Given the description of an element on the screen output the (x, y) to click on. 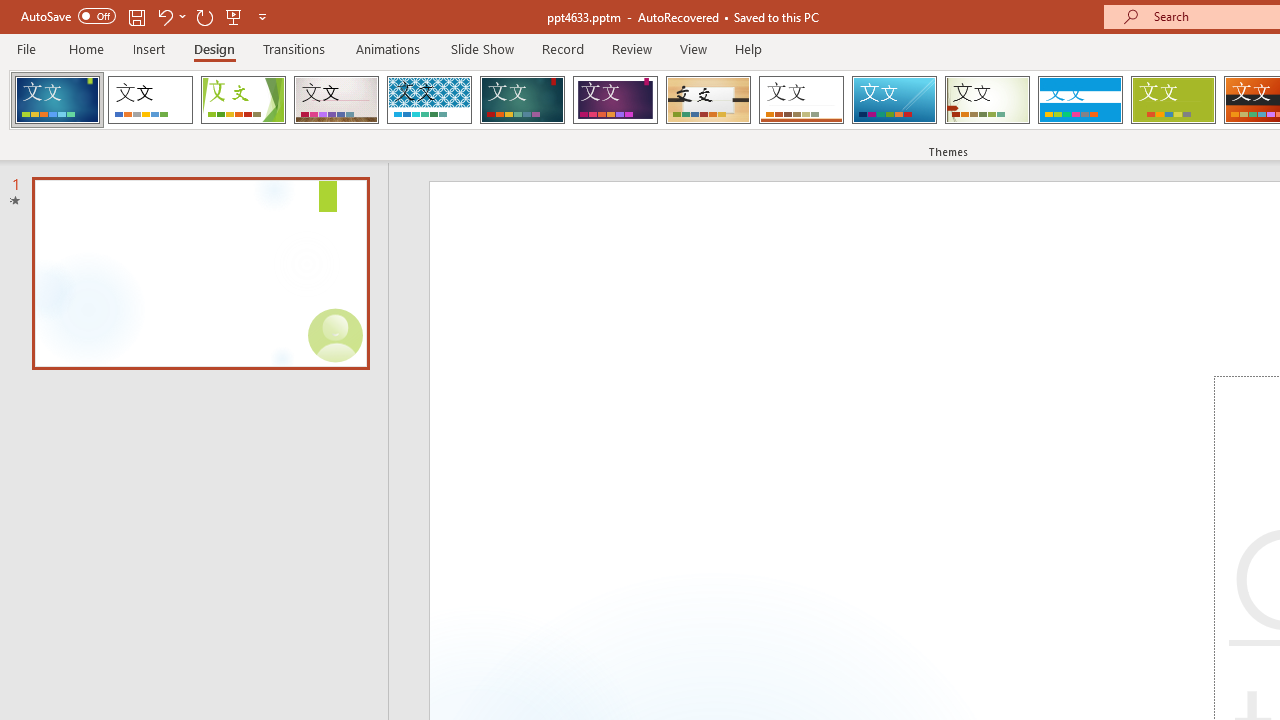
Gallery (336, 100)
Save (136, 15)
Retrospect Loading Preview... (801, 100)
File Tab (26, 48)
Slice Loading Preview... (893, 100)
Animations (388, 48)
More Options (182, 15)
Banded Loading Preview... (1080, 100)
Facet (243, 100)
Transitions (294, 48)
Design (214, 48)
Redo (204, 15)
Wisp Loading Preview... (987, 100)
